Given the description of an element on the screen output the (x, y) to click on. 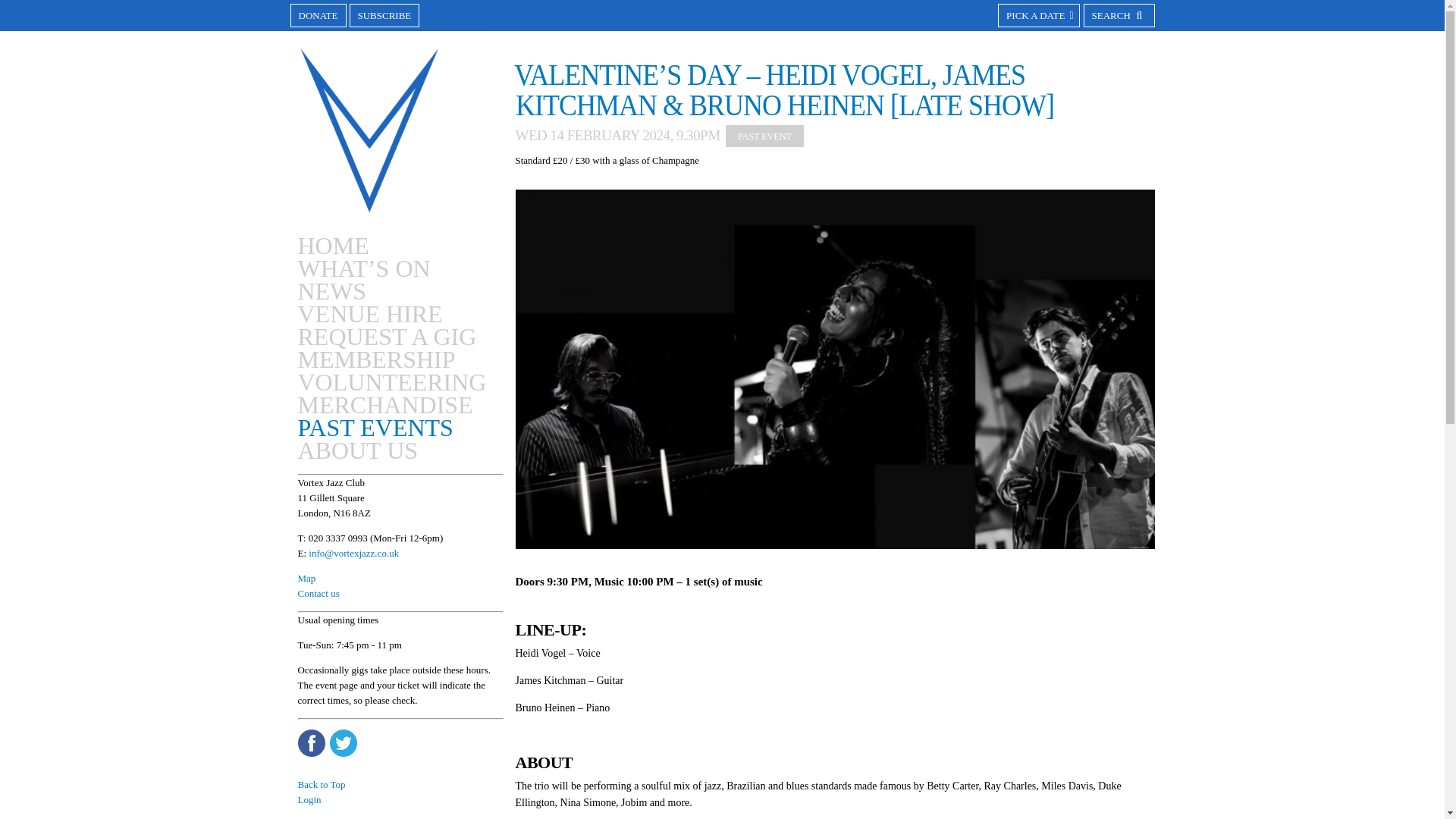
DONATE (317, 15)
SUBSCRIBE (384, 15)
Design and Development from Oblong (739, 772)
